Given the description of an element on the screen output the (x, y) to click on. 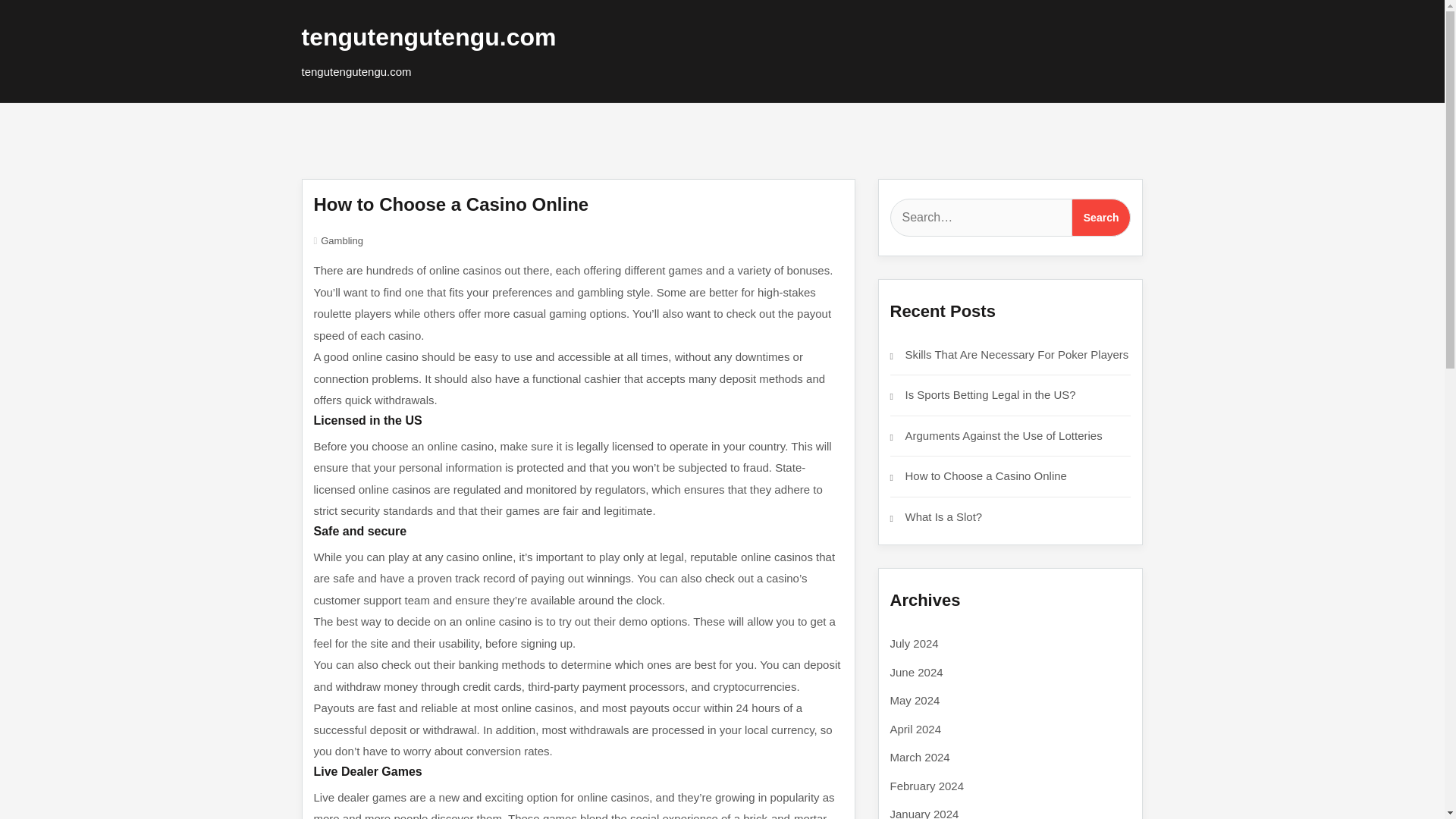
How to Choose a Casino Online (986, 475)
April 2024 (915, 727)
Search (1101, 217)
Is Sports Betting Legal in the US? (990, 394)
Skills That Are Necessary For Poker Players (1017, 353)
Gambling (341, 240)
June 2024 (916, 671)
tengutengutengu.com (428, 36)
Search (1101, 217)
January 2024 (924, 813)
February 2024 (926, 785)
What Is a Slot? (943, 515)
July 2024 (914, 643)
March 2024 (919, 757)
May 2024 (914, 699)
